Given the description of an element on the screen output the (x, y) to click on. 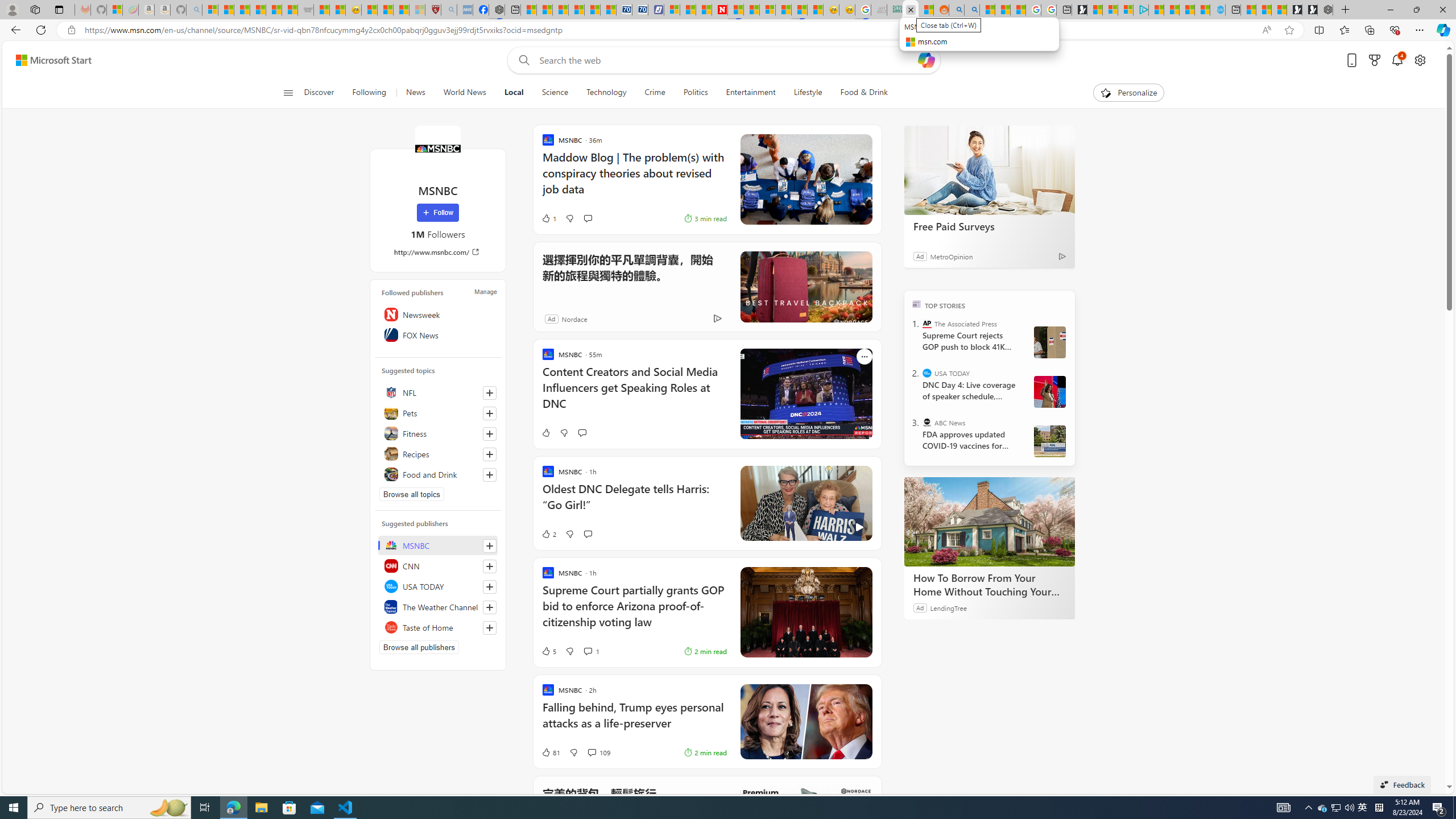
Newsweek (437, 314)
Open settings (1420, 60)
The Weather Channel (437, 606)
MetroOpinion (951, 256)
2 Like (547, 533)
Politics (695, 92)
Skip to footer (46, 59)
